Given the description of an element on the screen output the (x, y) to click on. 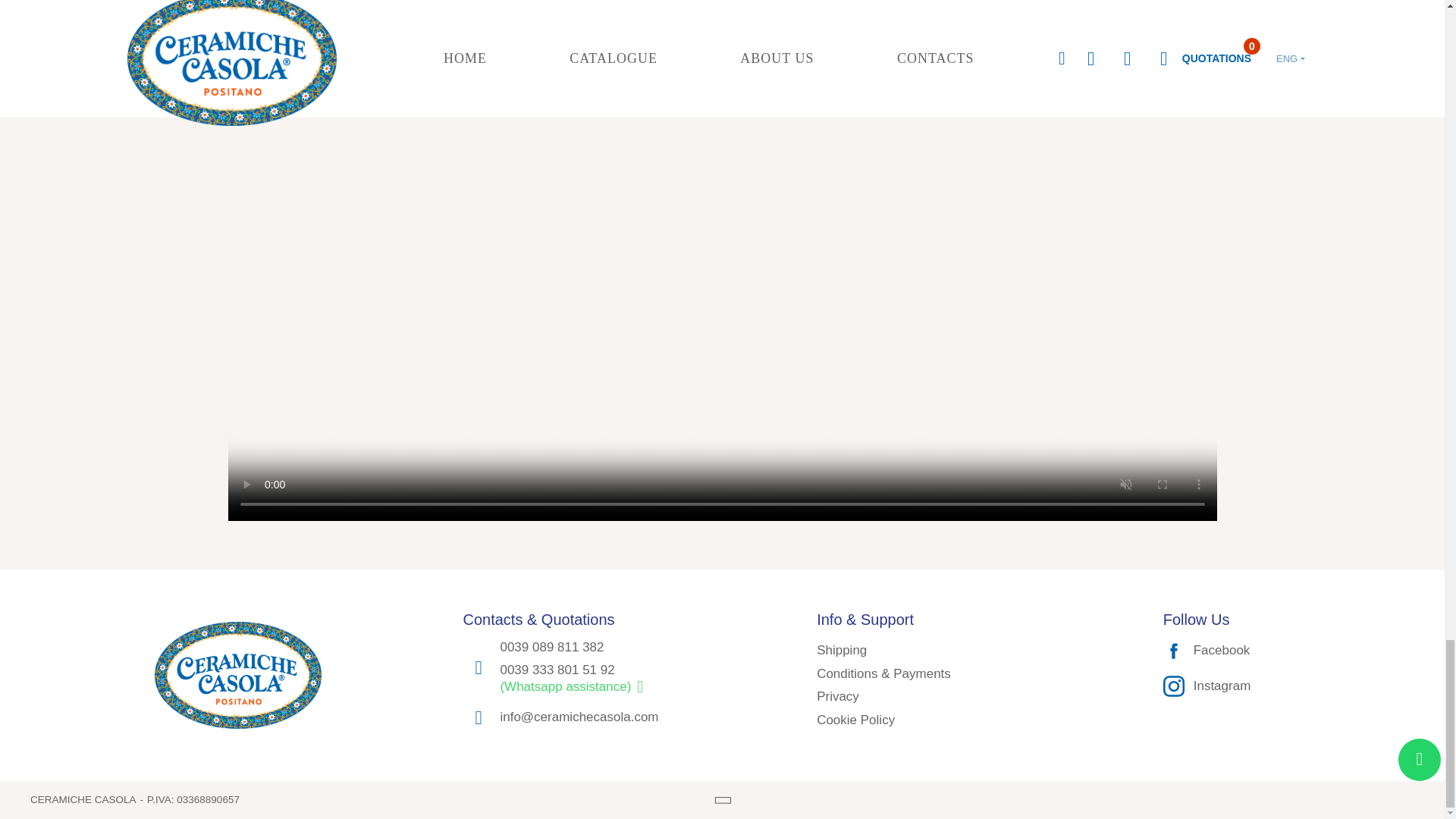
Shipping (841, 649)
Endesia Web agency a Napoli e Sorrento (1376, 798)
